Given the description of an element on the screen output the (x, y) to click on. 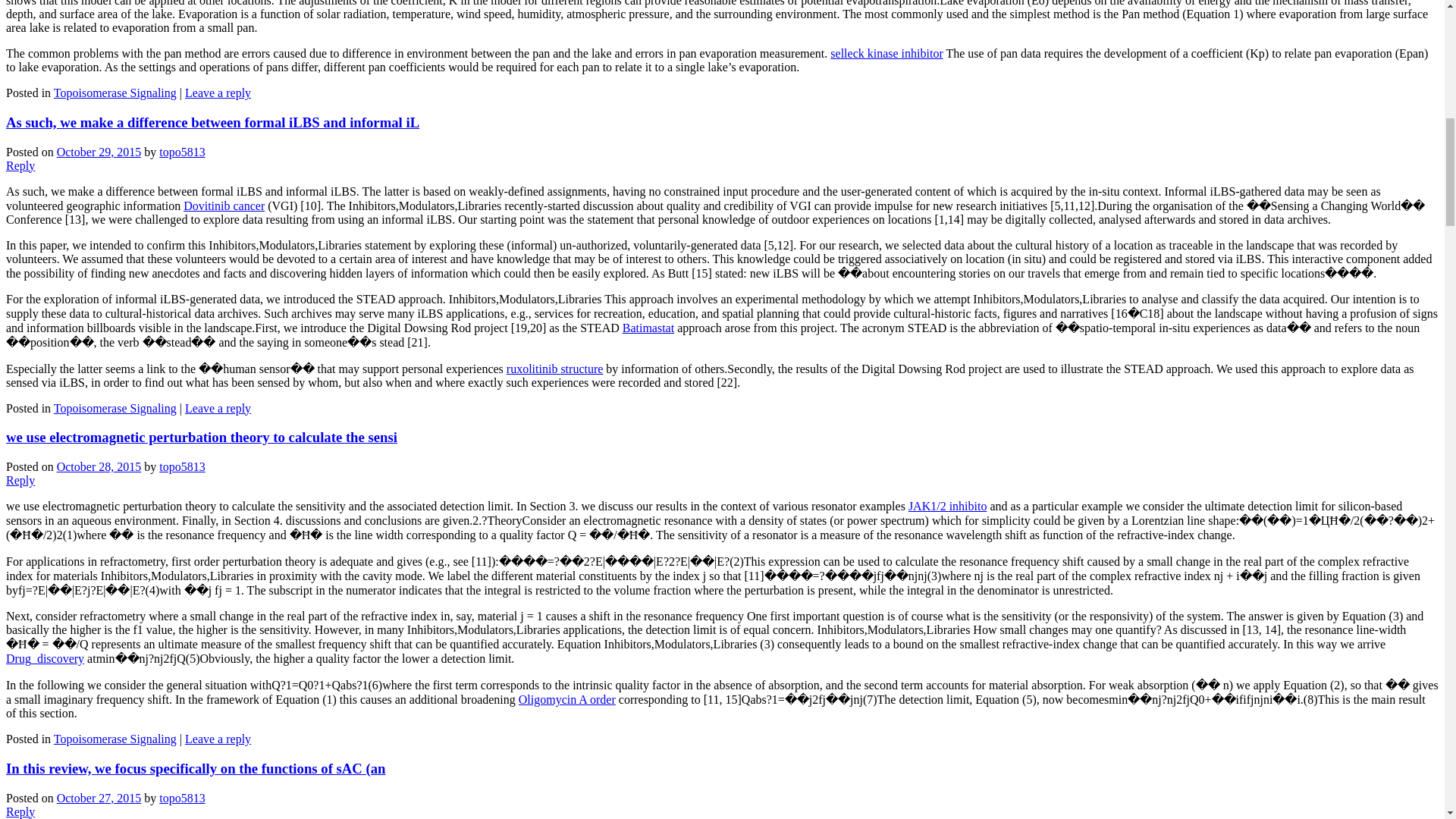
View all posts by topo5813 (181, 151)
October 29, 2015 (98, 151)
Leave a reply (217, 408)
Dovitinib cancer (223, 205)
Leave a reply (217, 92)
topo5813 (181, 151)
selleck kinase inhibitor (885, 52)
October 28, 2015 (98, 466)
Reply (19, 480)
Batimastat (648, 327)
8:52 am (98, 151)
View all posts in Topoisomerase Signaling (114, 92)
